Given the description of an element on the screen output the (x, y) to click on. 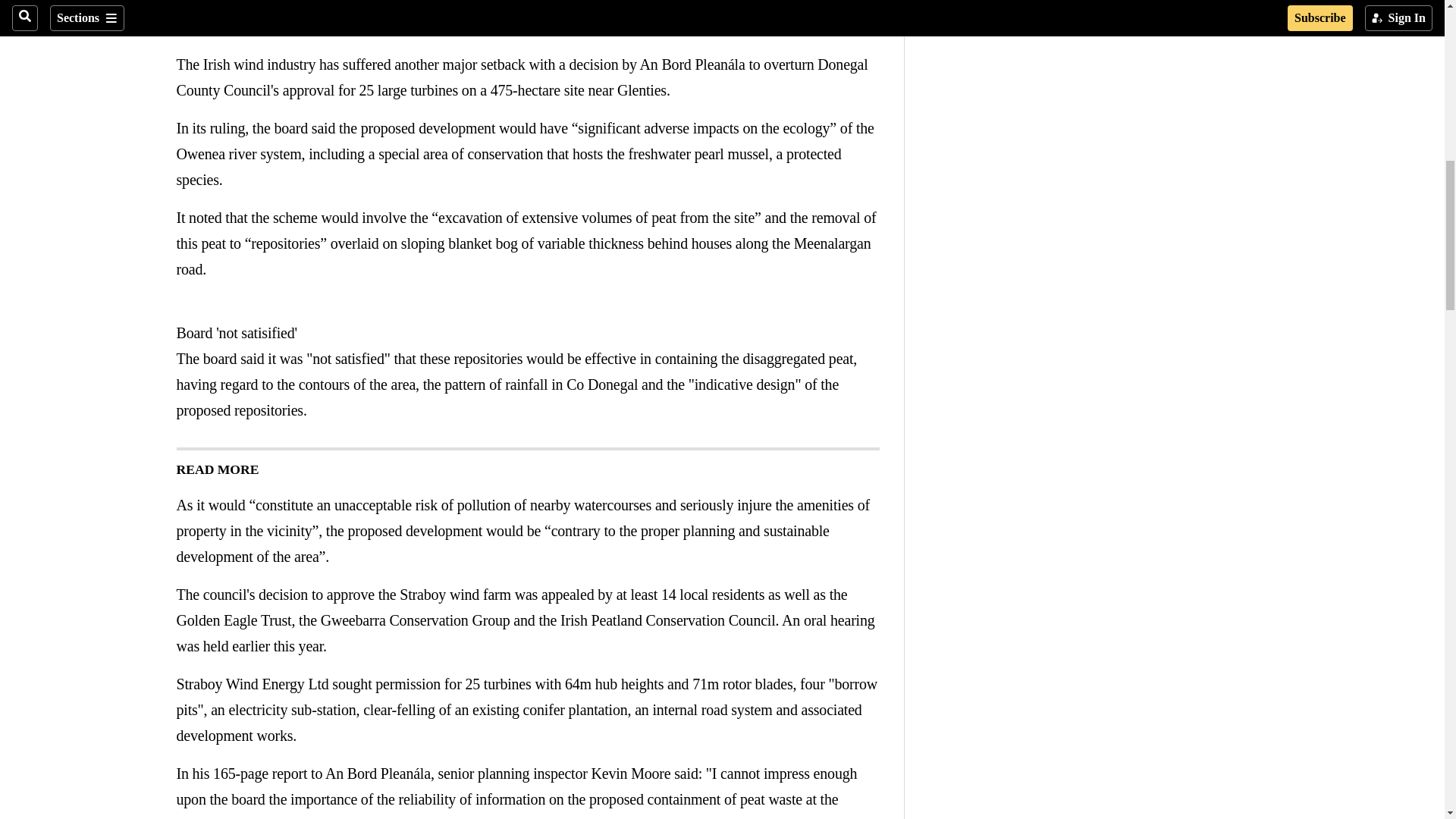
Facebook (184, 6)
WhatsApp (244, 6)
X (215, 6)
